Given the description of an element on the screen output the (x, y) to click on. 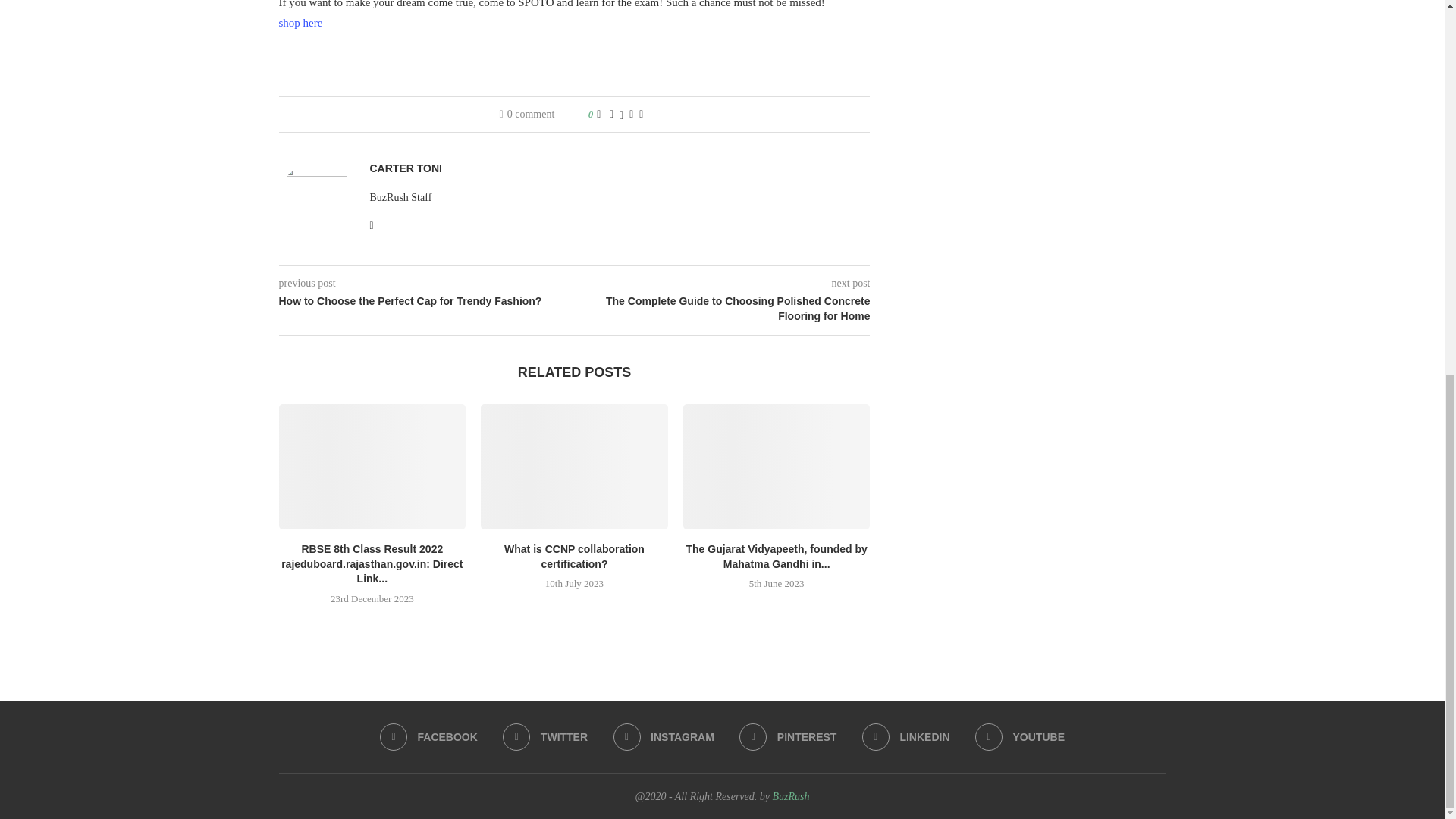
The Gujarat Vidyapeeth, founded by Mahatma Gandhi in... (775, 556)
shop here (301, 22)
How to Choose the Perfect Cap for Trendy Fashion? (427, 301)
What is CCNP collaboration certification? (574, 556)
CARTER TONI (405, 168)
Author Carter Toni (405, 168)
What is CCNP collaboration certification? (574, 466)
